Given the description of an element on the screen output the (x, y) to click on. 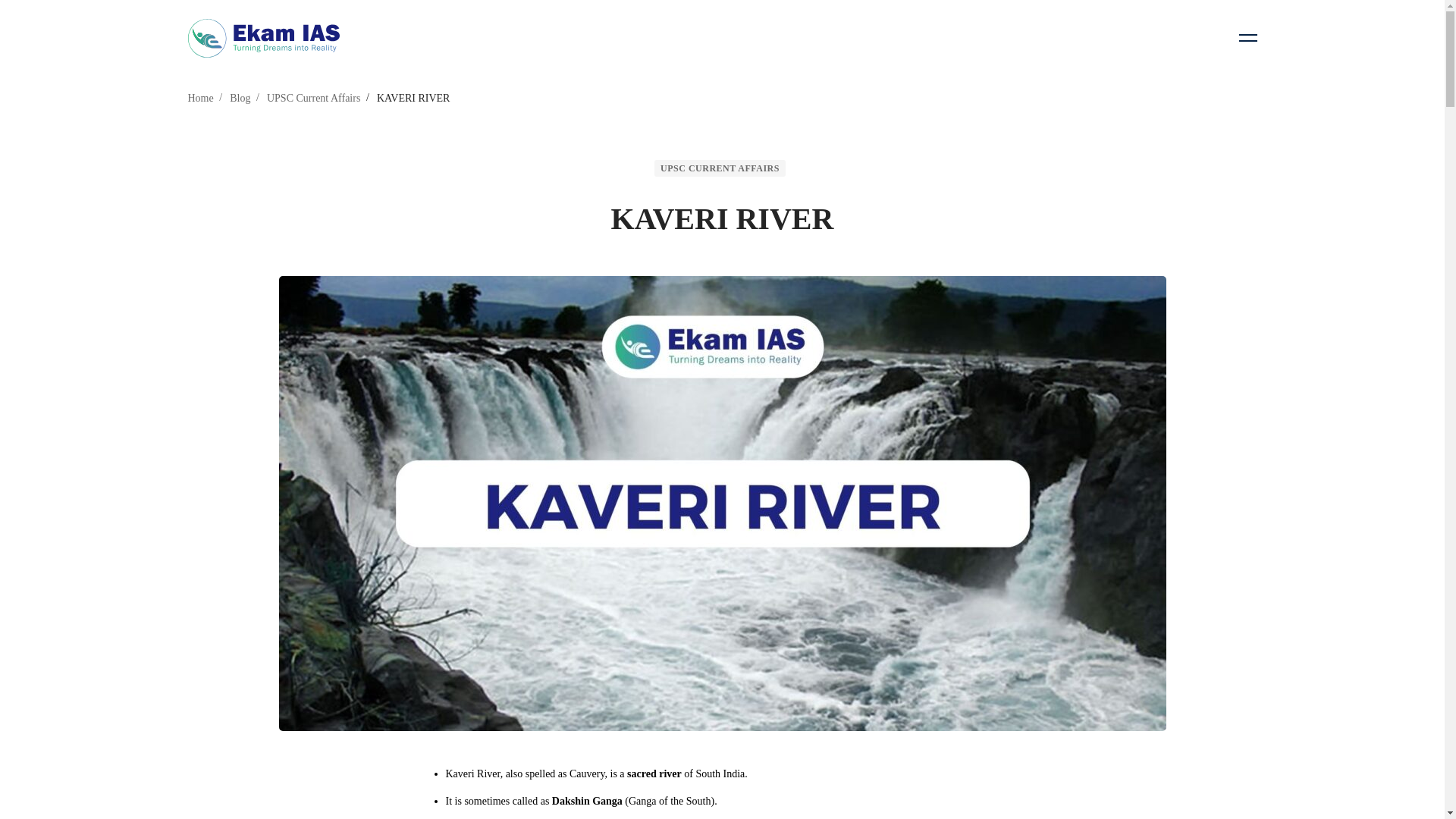
Blog (240, 98)
UPSC CURRENT AFFAIRS (719, 167)
UPSC Current Affairs (312, 98)
Home (200, 98)
